Given the description of an element on the screen output the (x, y) to click on. 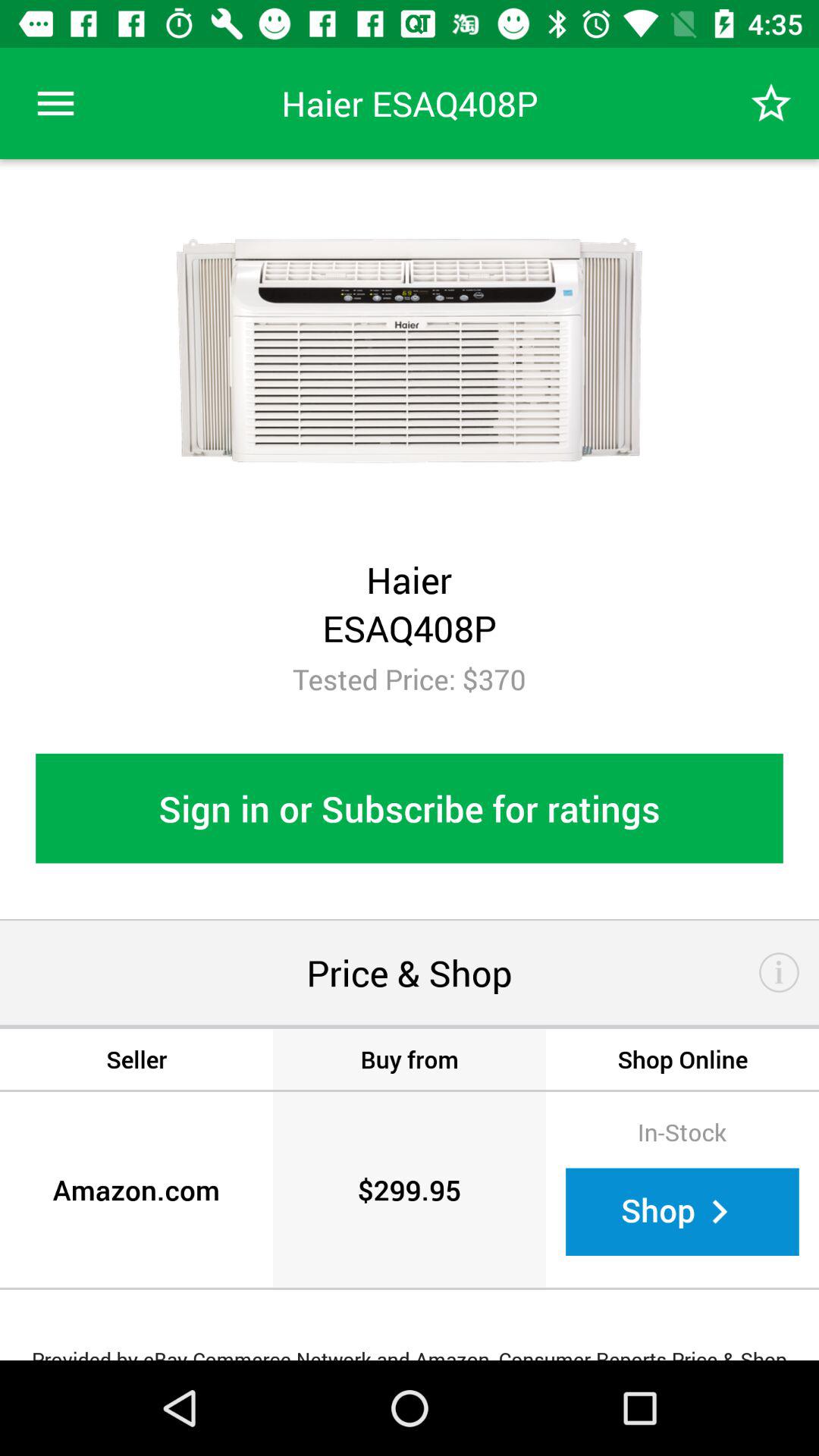
tap the item to the left of the haier esaq408p (55, 103)
